Given the description of an element on the screen output the (x, y) to click on. 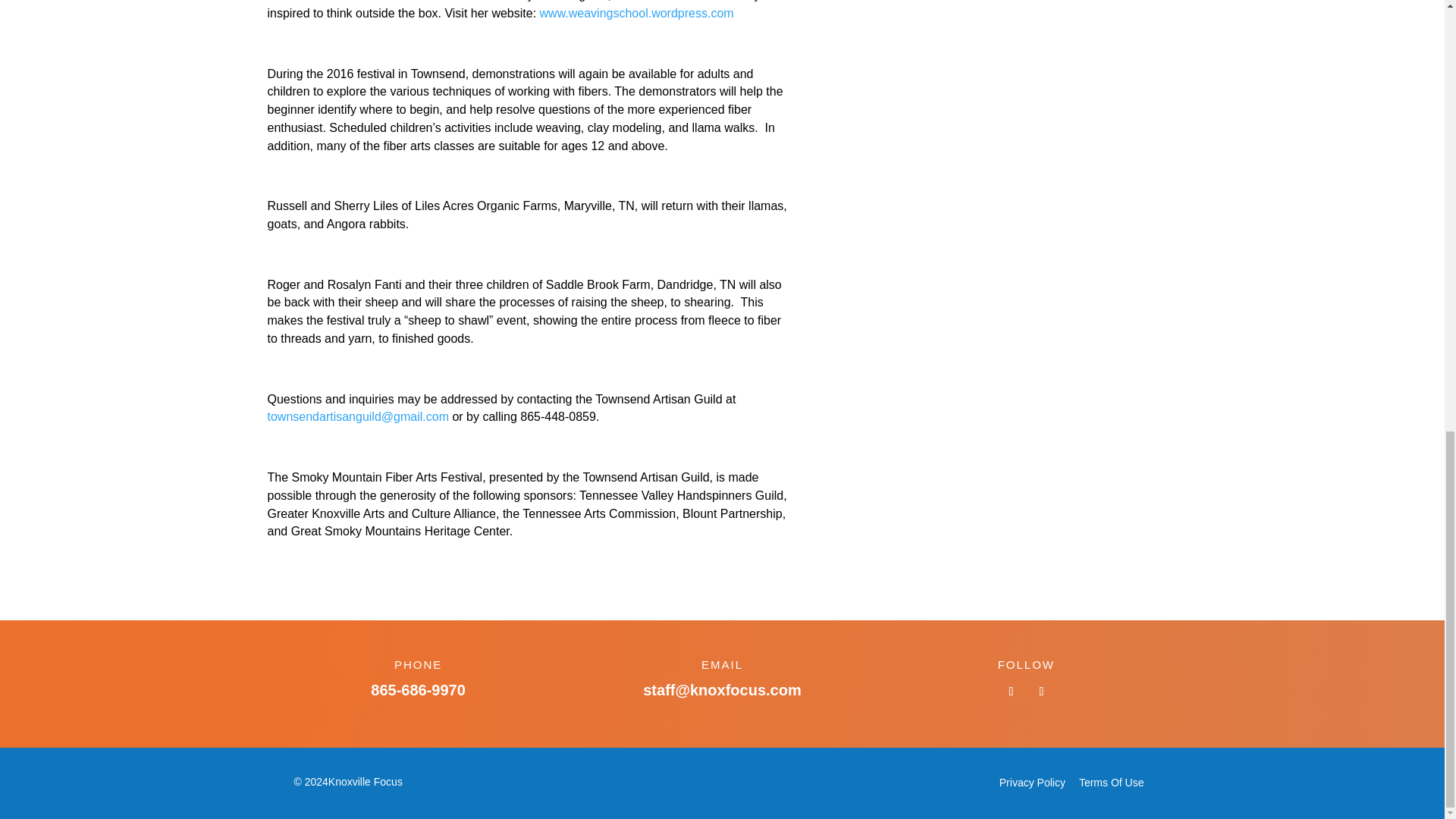
Follow on Facebook (1010, 691)
Follow on X (1040, 691)
